Given the description of an element on the screen output the (x, y) to click on. 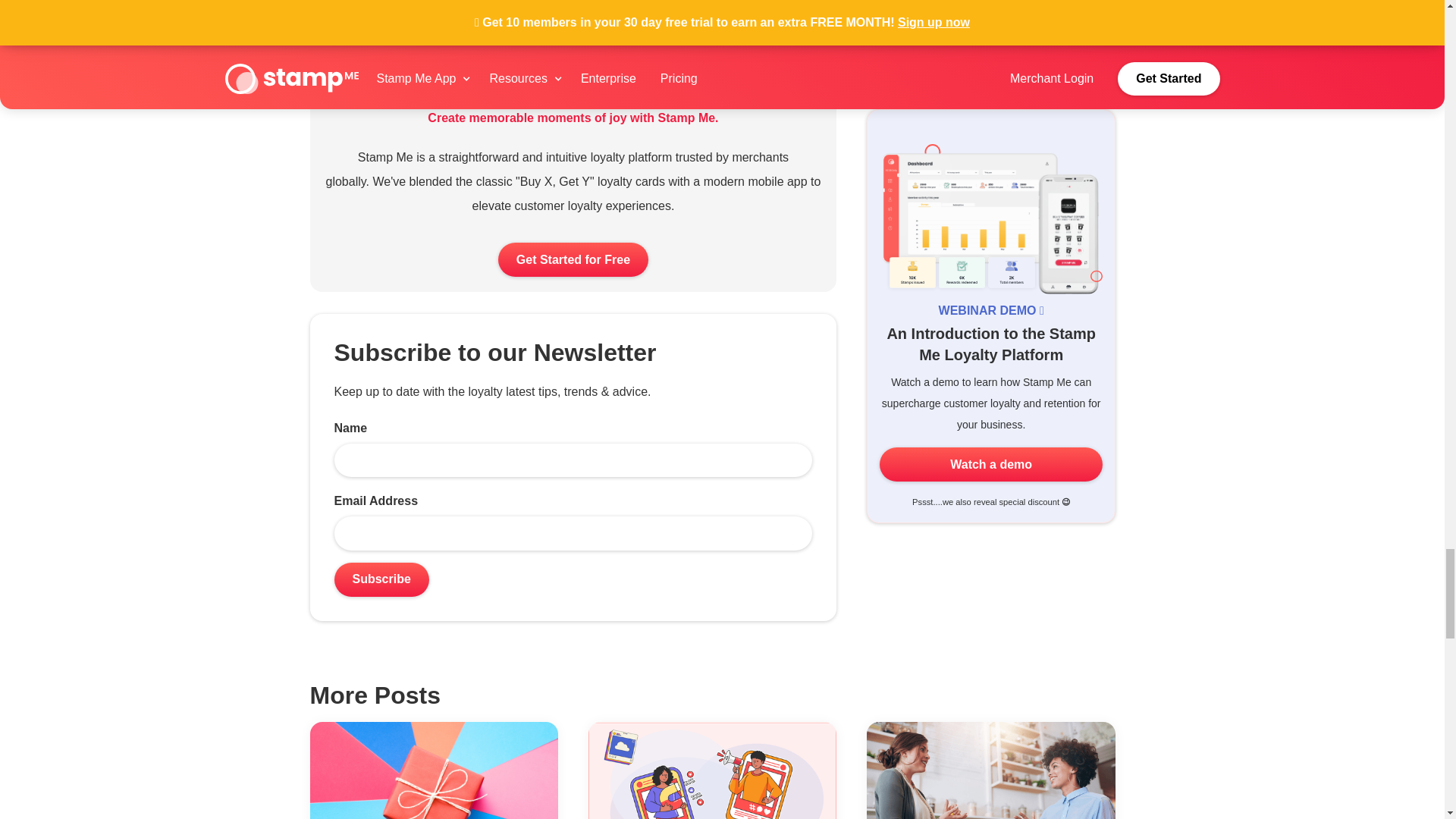
Get Started for Free (572, 259)
Subscribe (380, 579)
Subscribe (380, 579)
